Given the description of an element on the screen output the (x, y) to click on. 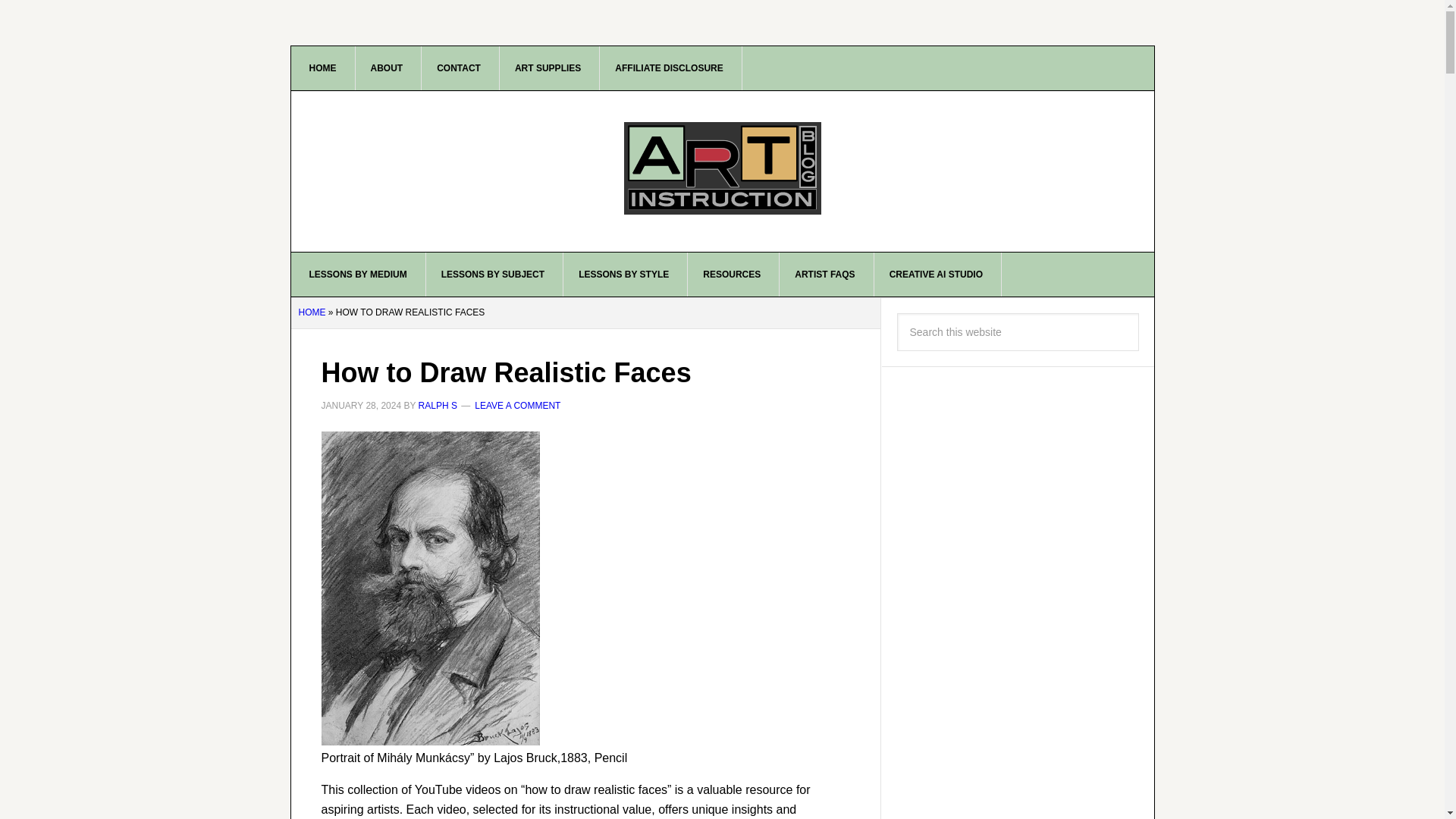
HOME (323, 67)
CONTACT (459, 67)
LESSONS BY SUBJECT (493, 274)
ABOUT (387, 67)
AFFILIATE DISCLOSURE (668, 67)
LESSONS BY MEDIUM (358, 274)
ART INSTRUCTION FOR BEGINNERS - ONLINE ART LESSONS (722, 171)
ART SUPPLIES (547, 67)
